Given the description of an element on the screen output the (x, y) to click on. 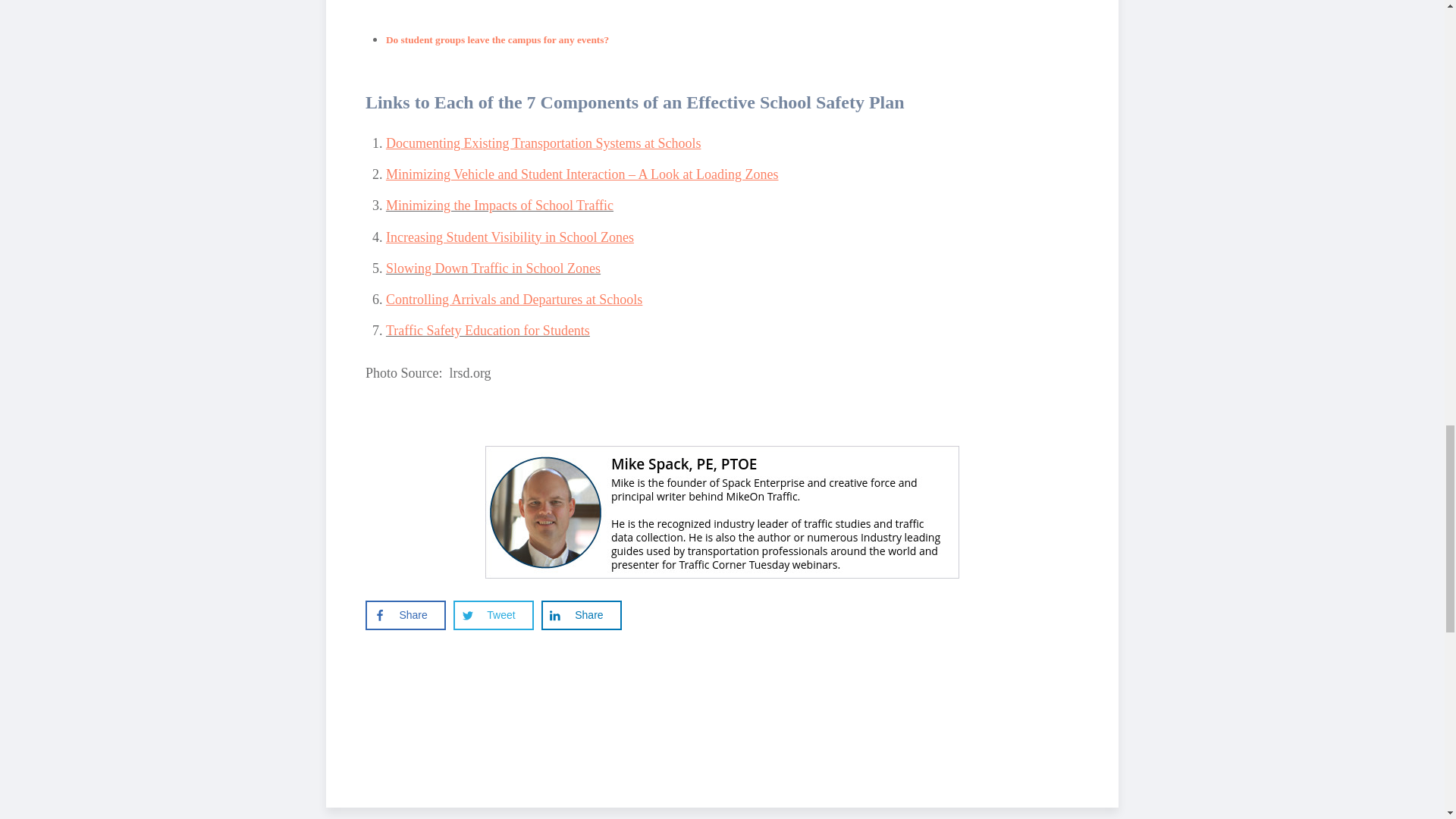
Traffic Safety Education for Students (487, 330)
Share (405, 614)
Minimizing the Impacts of School Traffic (498, 205)
Controlling Arrivals and Departures at Schools (513, 299)
Increasing Student Visibility in School Zones (509, 237)
Documenting Existing Transportation Systems at Schools (543, 142)
Share (581, 614)
Tweet (493, 614)
Slowing Down Traffic in School Zones (492, 268)
